Given the description of an element on the screen output the (x, y) to click on. 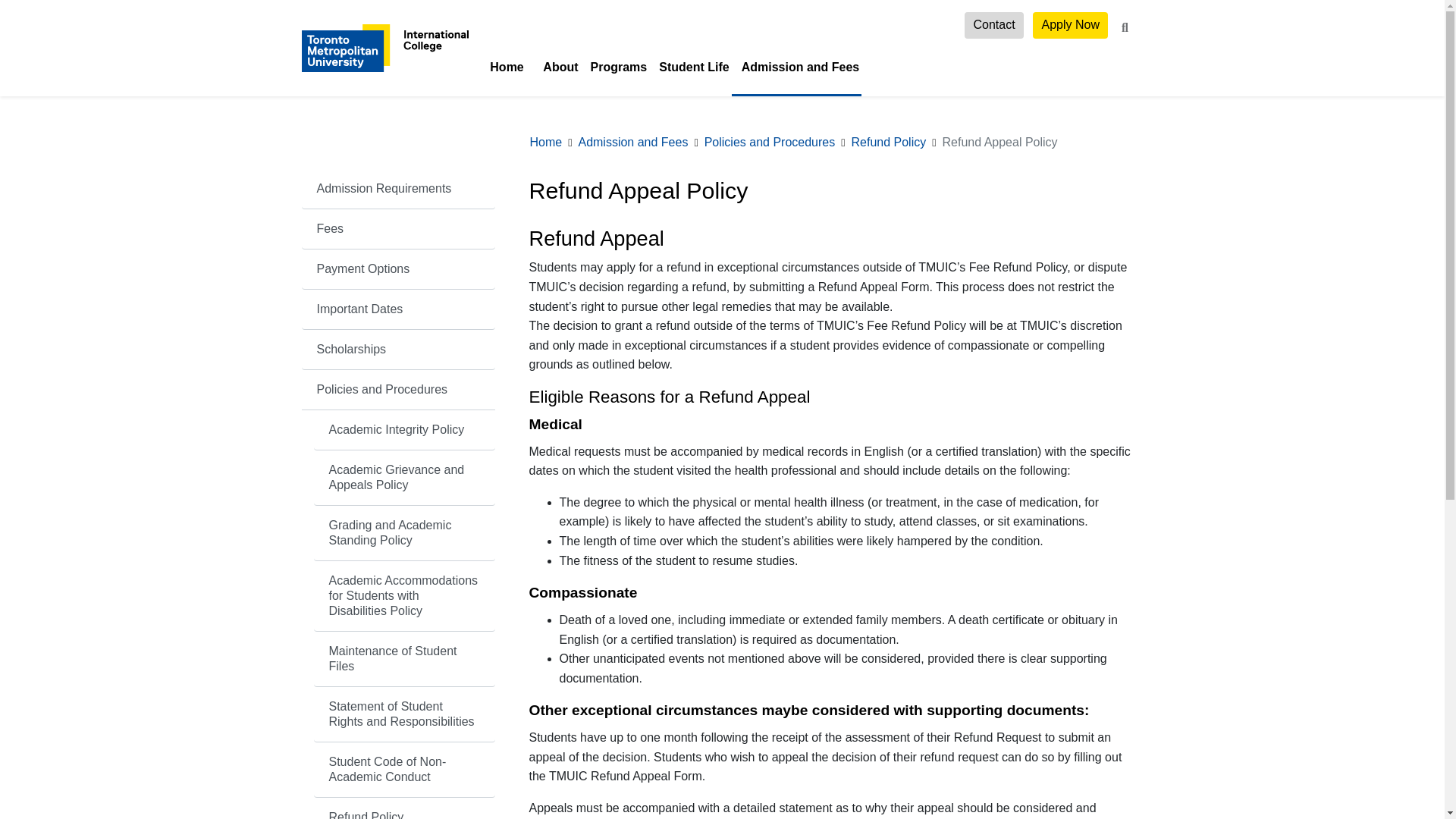
Admission and Fees (796, 67)
Programs (614, 67)
Toronto Metropolitan University International College (384, 46)
About (557, 67)
Student Life (689, 67)
Home (507, 67)
Contact (993, 25)
Apply Now (1070, 25)
